Given the description of an element on the screen output the (x, y) to click on. 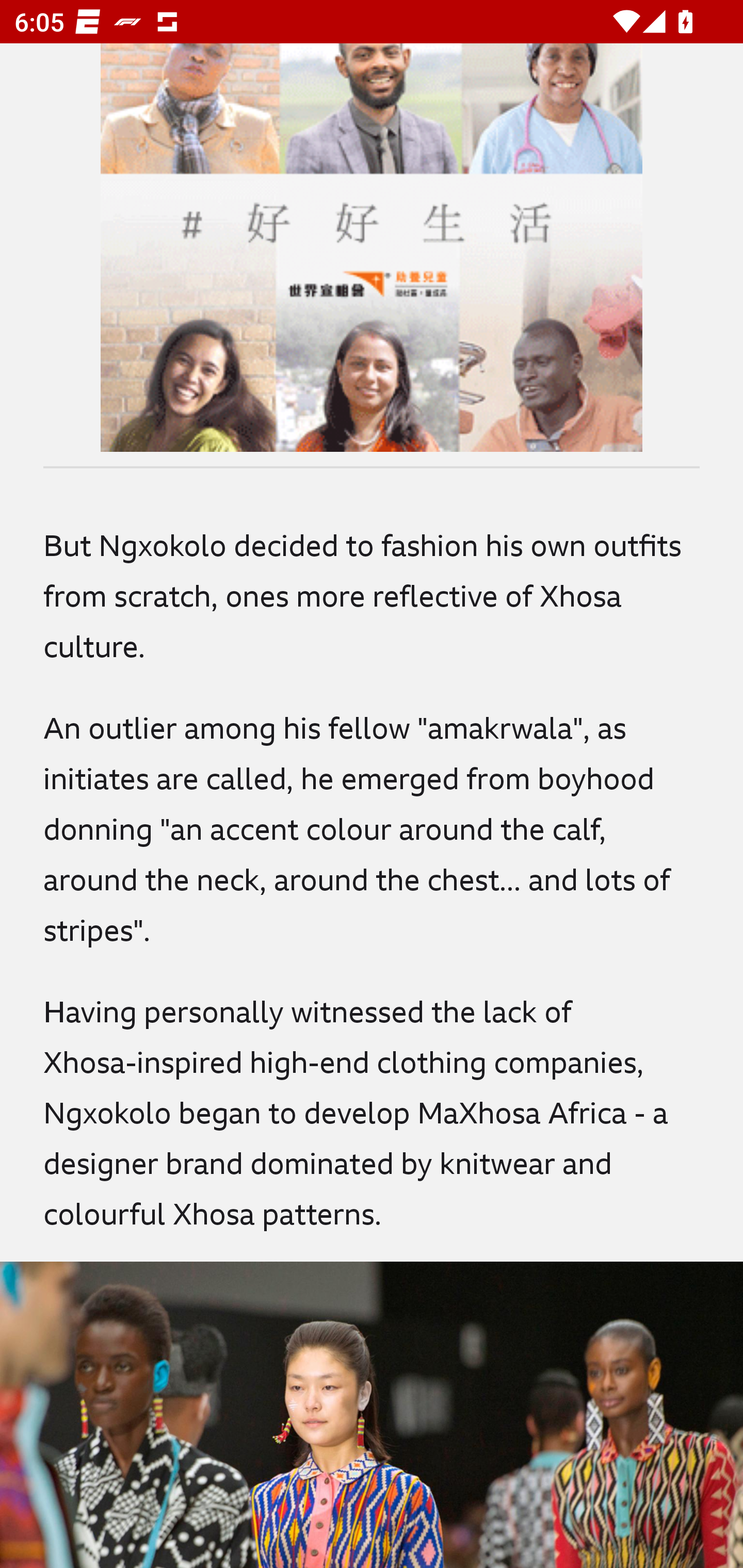
Advertisement (371, 247)
